Given the description of an element on the screen output the (x, y) to click on. 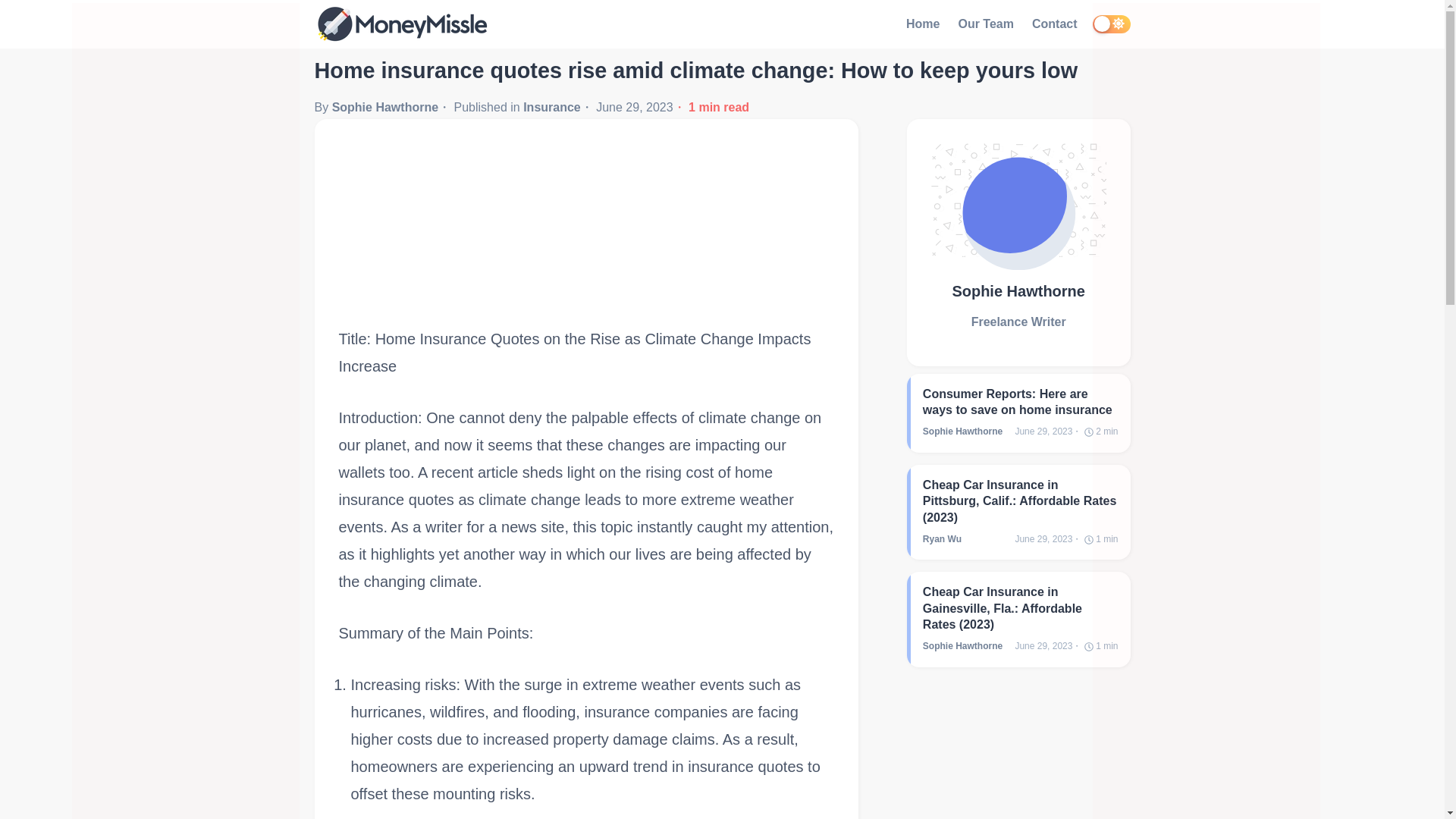
Insurance (551, 106)
Sophie Hawthorne (963, 430)
Our Team (985, 24)
Home (922, 24)
Consumer Reports: Here are ways to save on home insurance (1020, 401)
Sophie Hawthorne (384, 106)
Sophie Hawthorne (963, 645)
Ryan Wu (941, 538)
Sophie Hawthorne (1018, 291)
Contact (1054, 24)
